Given the description of an element on the screen output the (x, y) to click on. 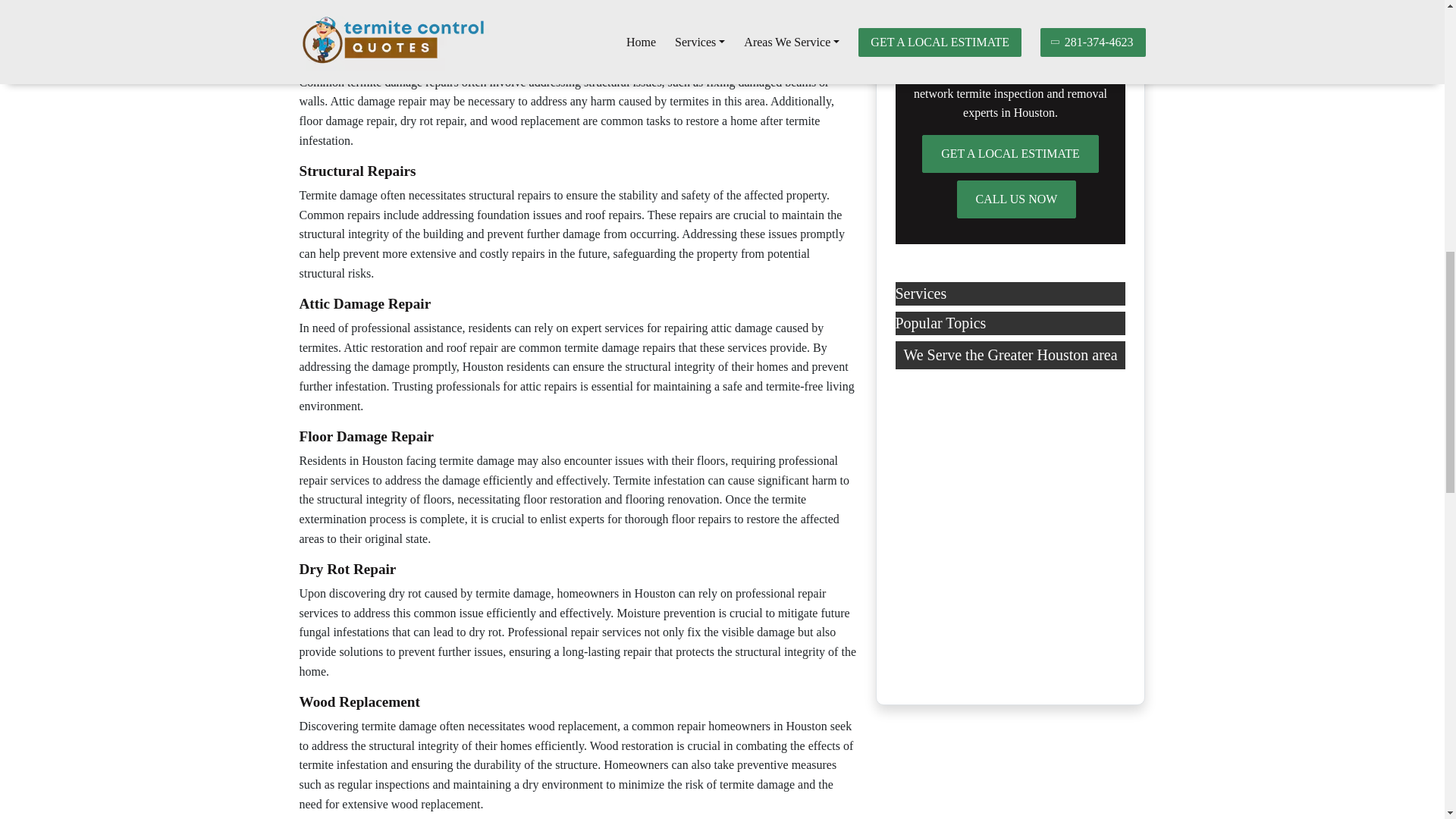
CALL US NOW (1016, 199)
GET A LOCAL ESTIMATE (1010, 153)
